Given the description of an element on the screen output the (x, y) to click on. 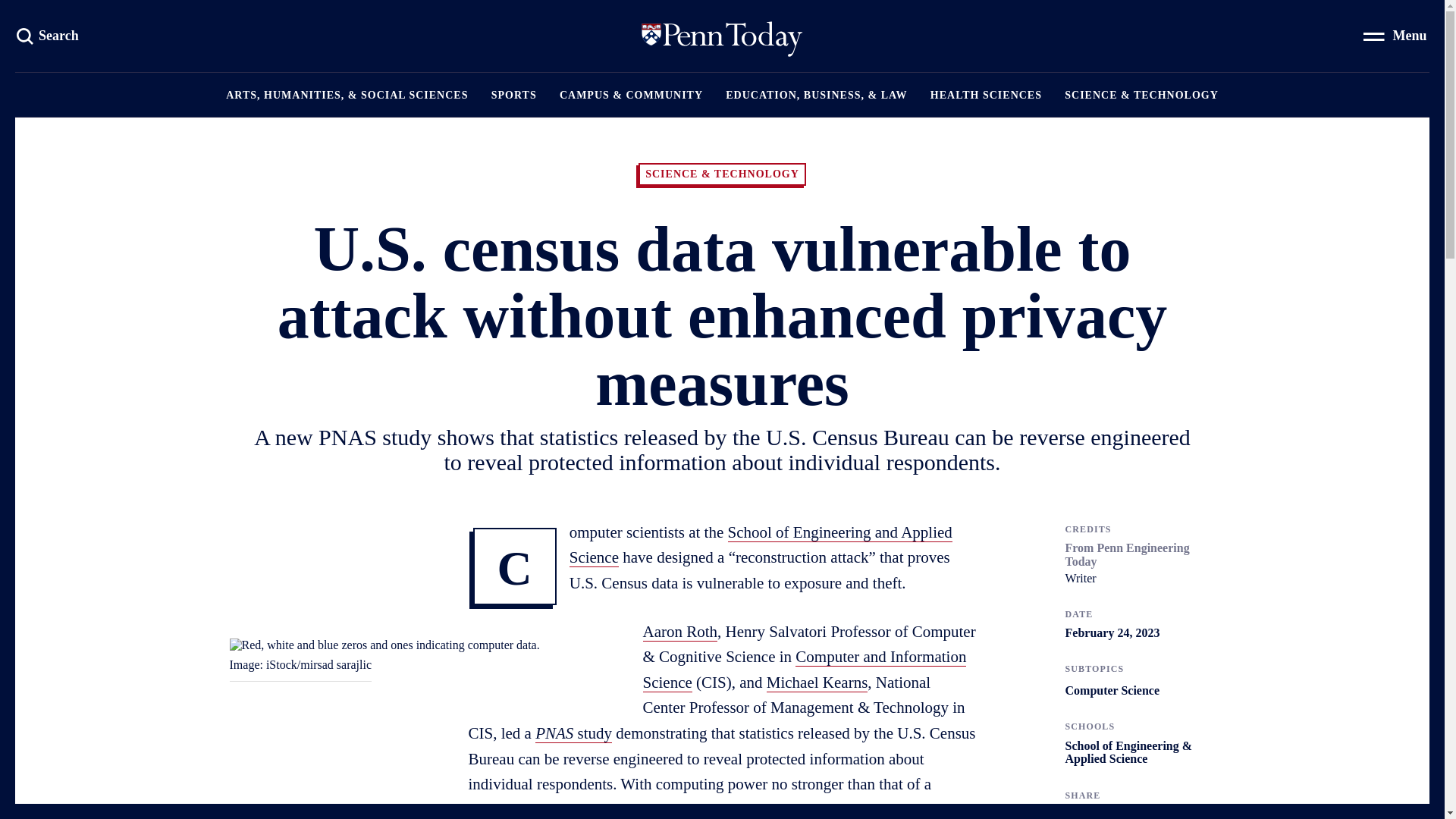
SPORTS (514, 95)
Share - Facebook (1101, 813)
Share - LinkedIn (1131, 813)
Search (48, 35)
SKIP TO MAIN CONTENT (168, 20)
HEALTH SCIENCES (986, 95)
Penn Today Logo (48, 35)
Share - Twitter (722, 35)
